Given the description of an element on the screen output the (x, y) to click on. 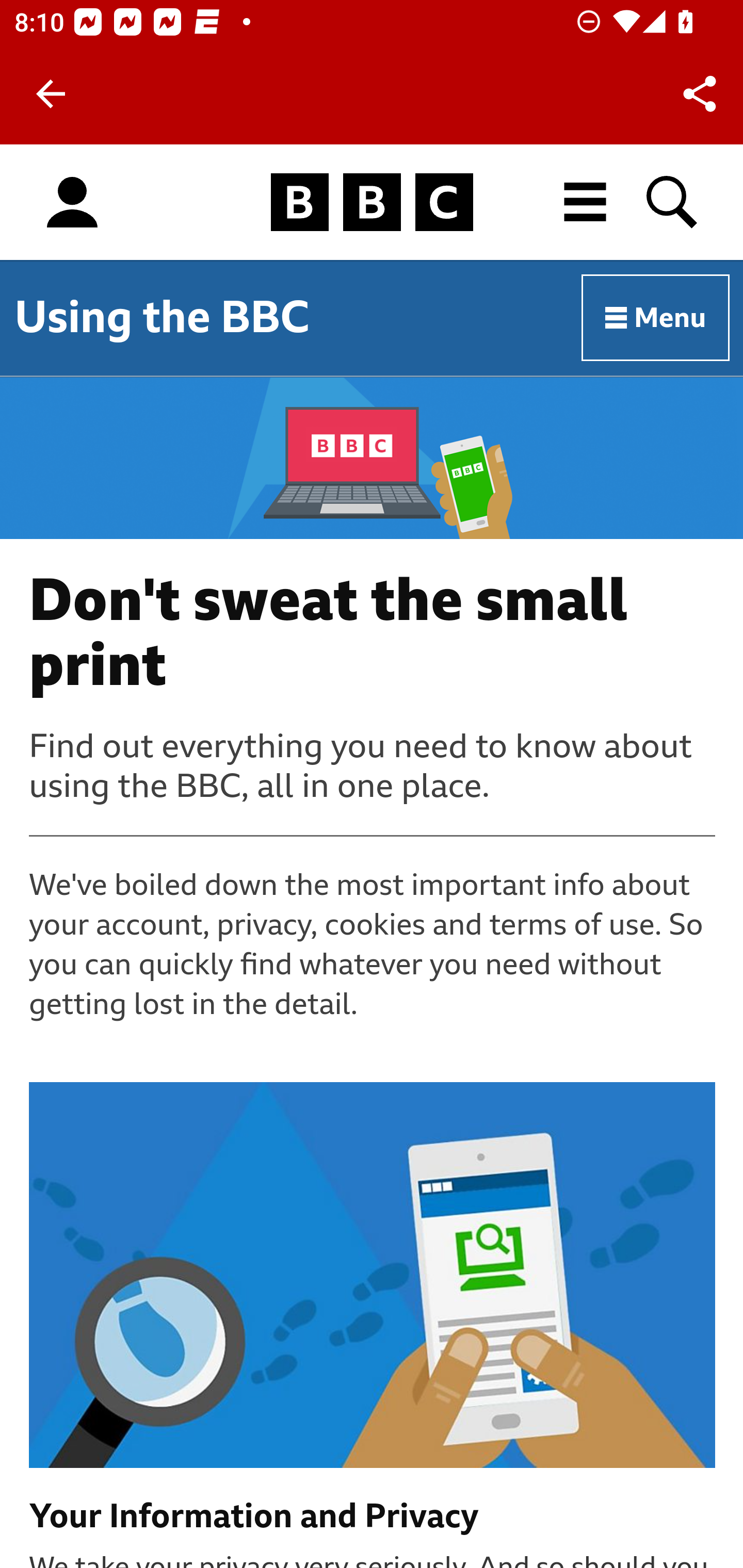
Back (50, 93)
Share (699, 93)
All BBC destinations menu (585, 202)
Search BBC (672, 202)
Sign in (71, 203)
Homepage (371, 203)
Menu (656, 318)
Using the BBC (162, 317)
Your Information and Privacy (372, 1516)
